Given the description of an element on the screen output the (x, y) to click on. 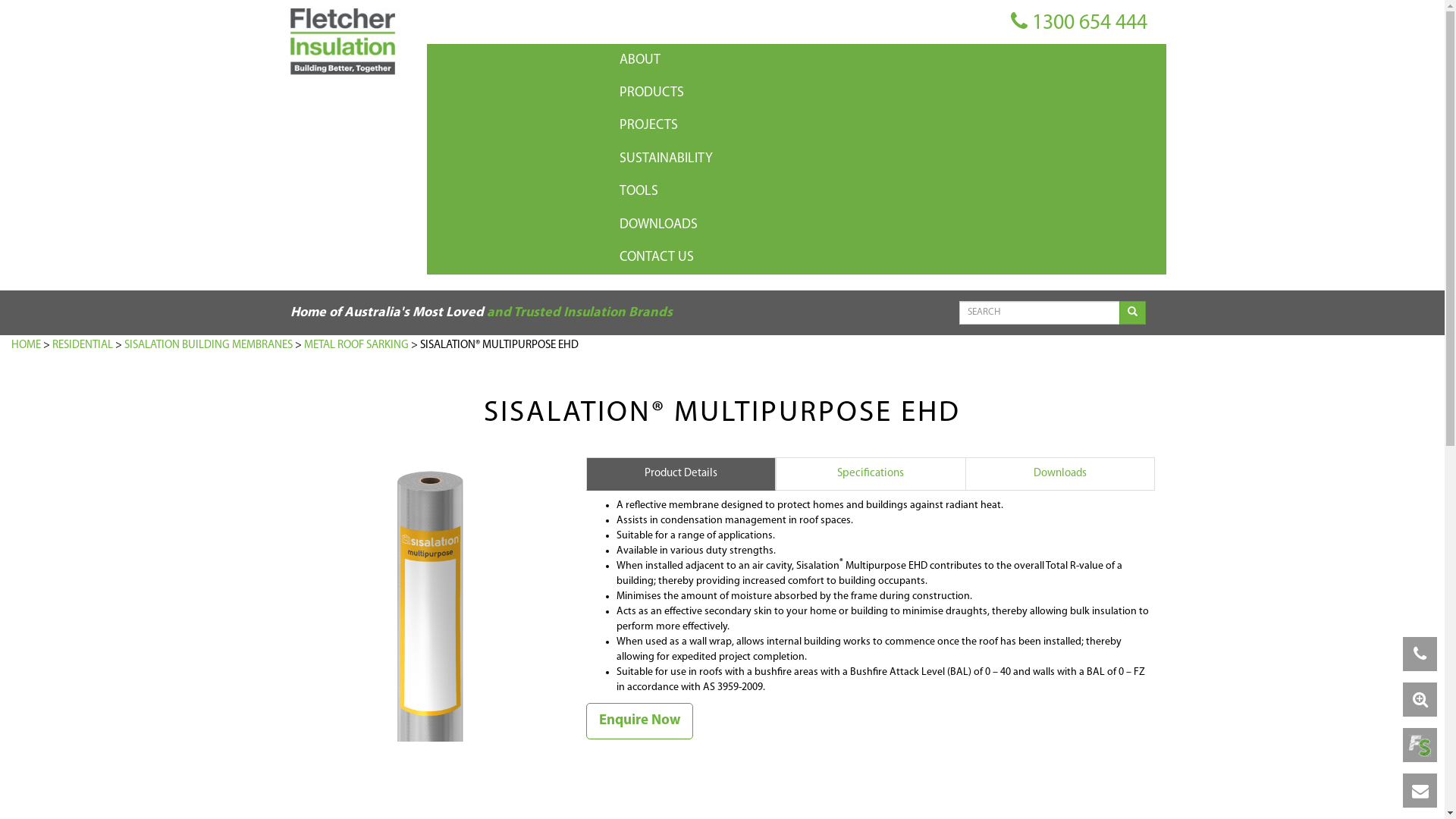
RESIDENTIAL Element type: text (82, 345)
PRODUCTS Element type: text (888, 92)
Product Details Element type: text (680, 473)
Specifications Element type: text (869, 473)
SUSTAINABILITY Element type: text (888, 158)
Downloads Element type: text (1059, 473)
Enquire Now Element type: text (638, 720)
TOOLS Element type: text (888, 191)
SISALATION BUILDING MEMBRANES Element type: text (208, 345)
PROJECTS Element type: text (888, 125)
HOME Element type: text (25, 345)
METAL ROOF SARKING Element type: text (356, 345)
ABOUT Element type: text (888, 59)
CONTACT US Element type: text (888, 257)
DOWNLOADS Element type: text (888, 224)
search Element type: hover (1132, 313)
1300 654 444 Element type: text (1078, 22)
